Given the description of an element on the screen output the (x, y) to click on. 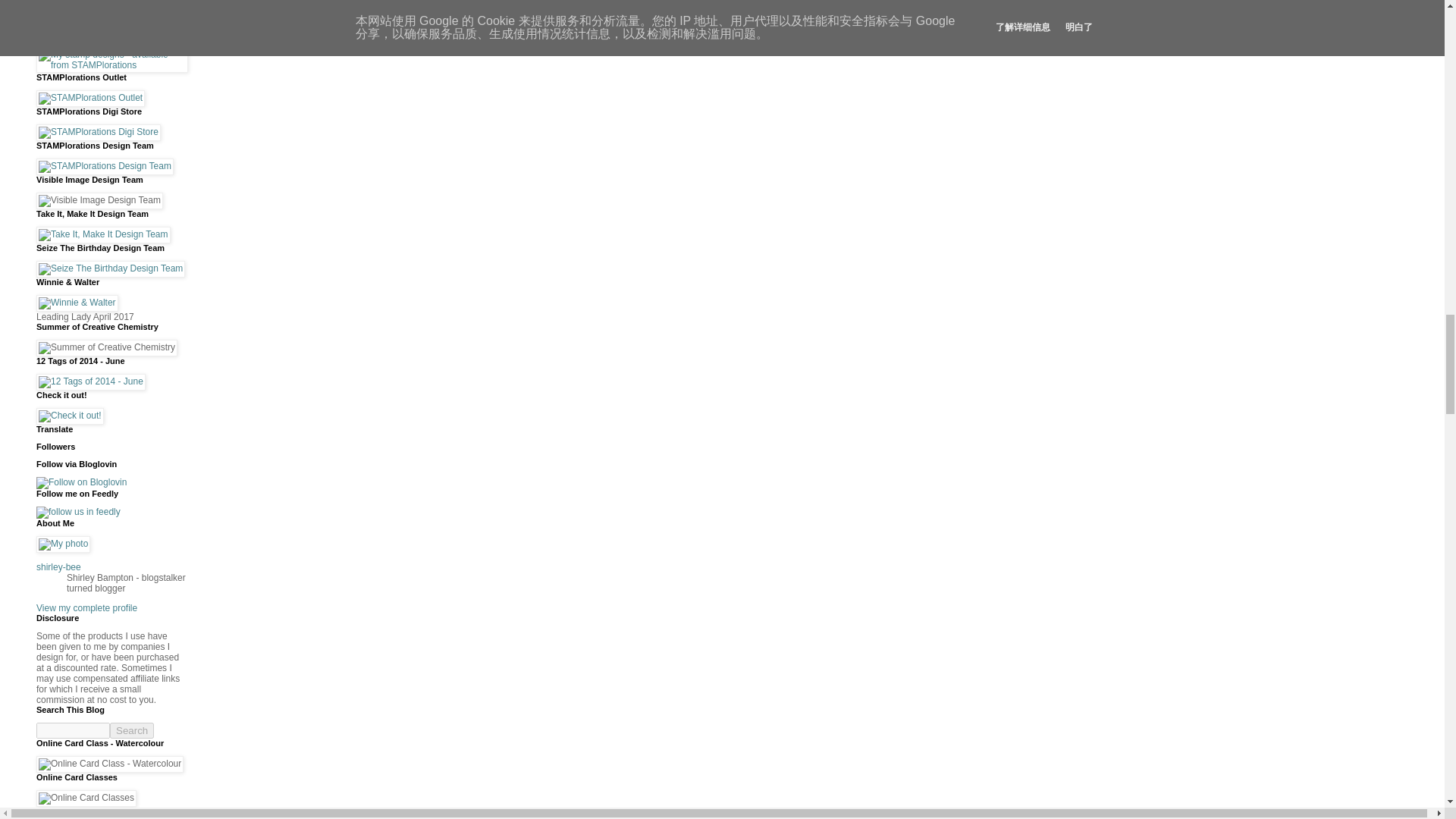
Search (132, 730)
Search (132, 730)
Older Post (126, 6)
search (132, 730)
Newer Post (72, 6)
Follow shirley-bee's stamping stuff on Bloglovin (81, 481)
search (73, 730)
